Given the description of an element on the screen output the (x, y) to click on. 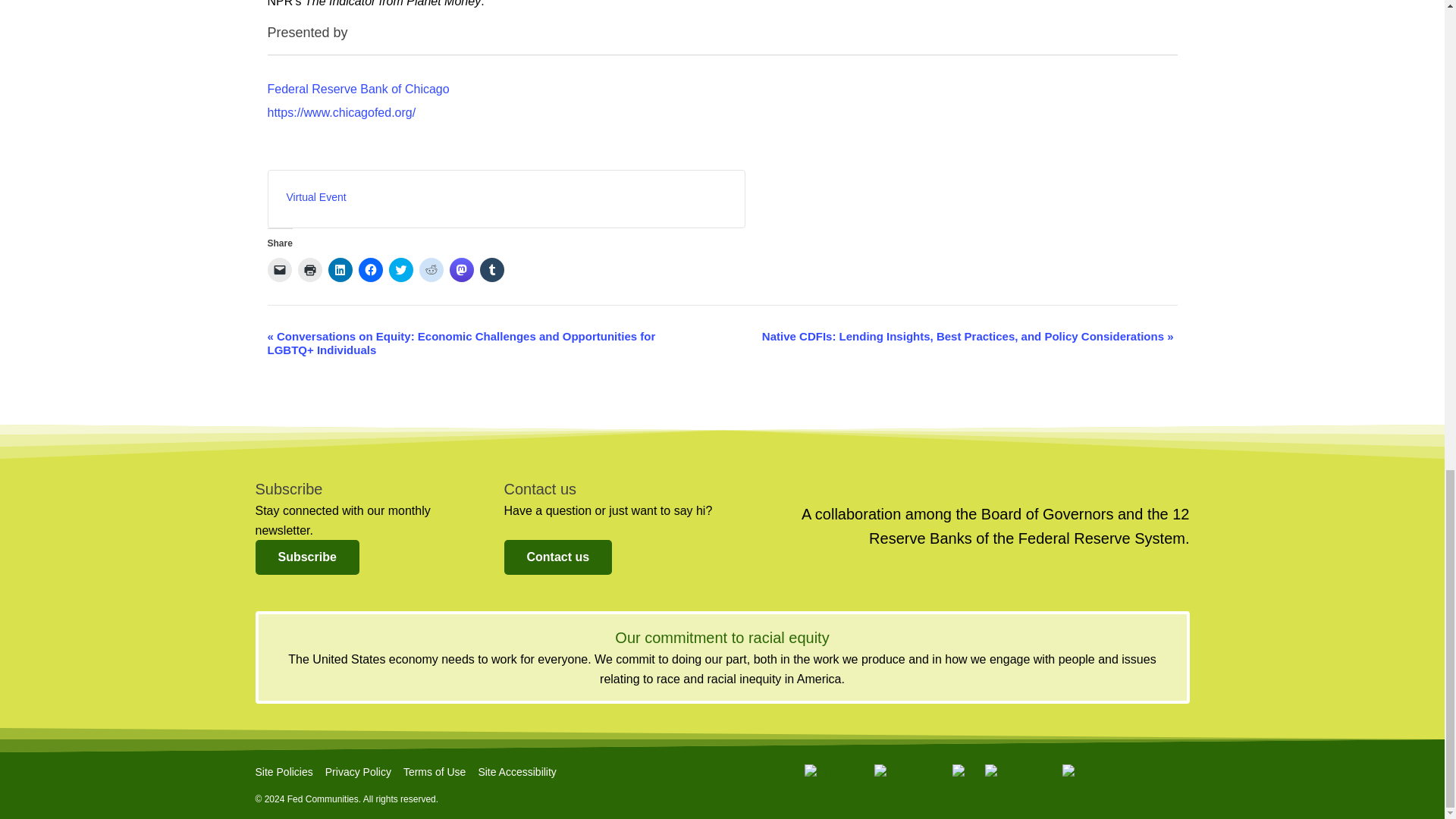
Click to print (309, 269)
Click to share on Twitter (400, 269)
Click to share on LinkedIn (339, 269)
Click to share on Tumblr (491, 269)
Click to share on Mastodon (460, 269)
Click to email a link to a friend (278, 269)
Virtual Event (316, 196)
Federal Reserve Bank of Chicago (357, 88)
Click to share on Reddit (430, 269)
Click to share on Facebook (369, 269)
